Given the description of an element on the screen output the (x, y) to click on. 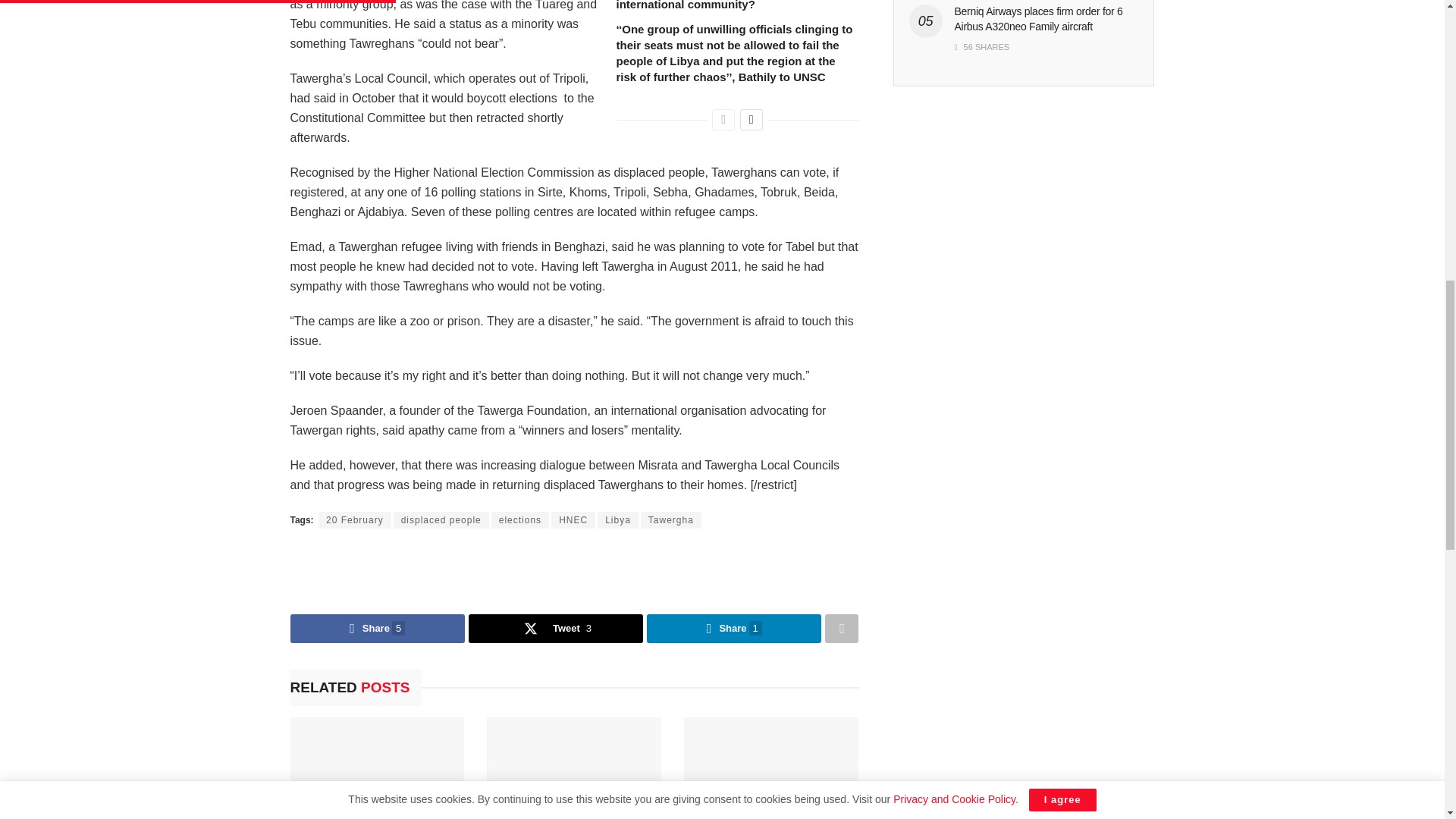
Previous (723, 119)
Next (750, 119)
